Given the description of an element on the screen output the (x, y) to click on. 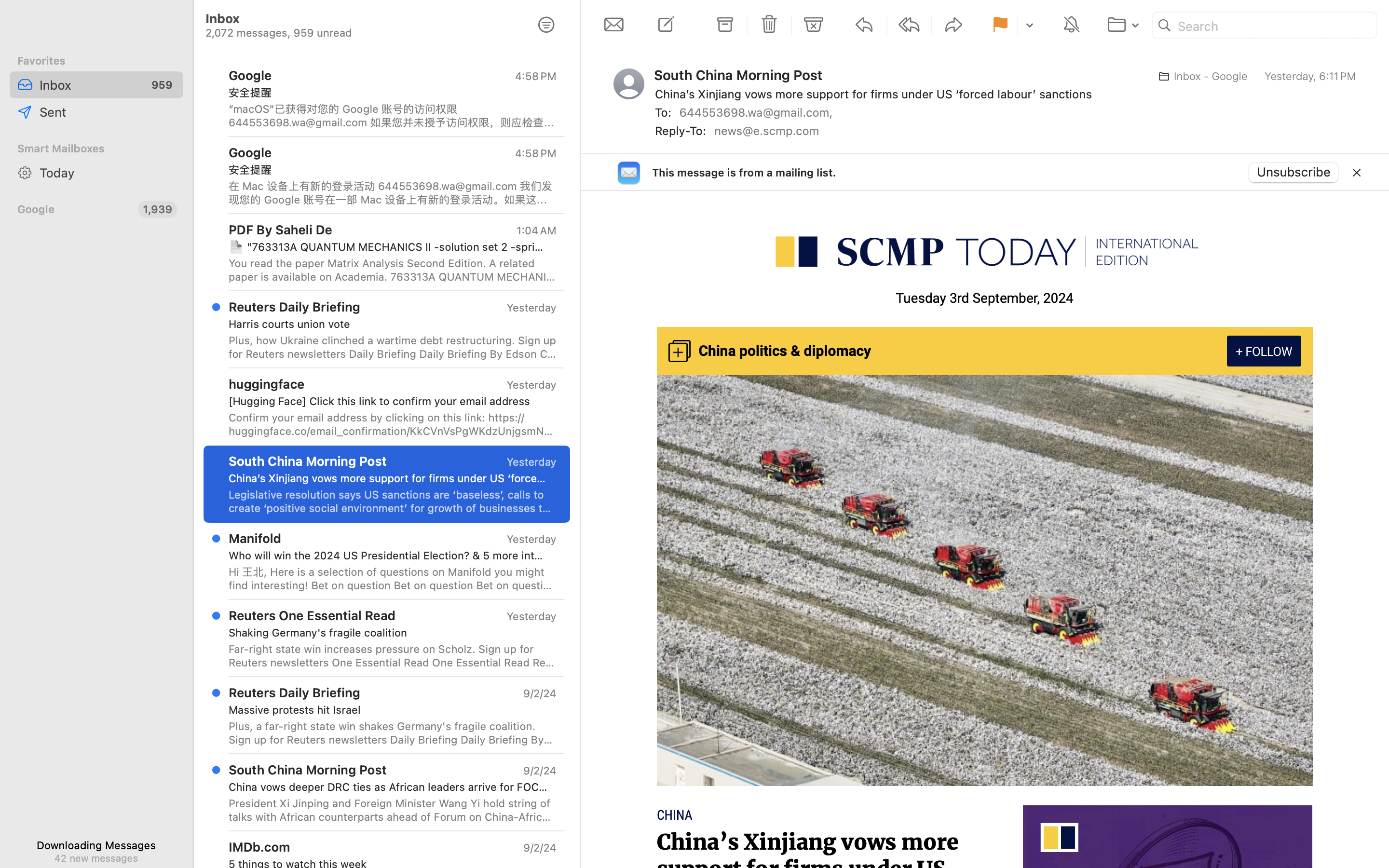
Sent Element type: AXStaticText (107, 111)
Massive protests hit Israel Element type: AXStaticText (388, 709)
“macOS”已获得对您的 Google 账号的访问权限 644553698.wa@gmail.com 如果您并未授予访问权限，则应检查此活动，并确保您的账号安全。 查看活动 您也可以访问以下网址查看安全性活动： https://myaccount.google.com/notifications 我们向您发送这封电子邮件，目的是让您了解关于您的 Google 账号和服务的重大变化。 © 2024 Google LLC, 1600 Amphitheatre Parkway, Mountain View, CA 94043, USA Element type: AXStaticText (392, 115)
Plus, a far-right state win shakes Germany's fragile coalition. Sign up for Reuters newsletters Daily Briefing Daily Briefing By Edson Caldas Frustration is mounting over Israel's failure to secure a ceasefire deal that would free hostages. Today, we cover massive protests across the country and a general strike. Elsewhere, a far-right state win shakes Germany's fragile coalition, and a Russian missile attack rocks Kyiv and other parts of Ukraine. Plus, the latest from the Paris Paralympics. Today's Top News Hundreds of thousands protested across Israel on Sunday. REUTERS/Florion Goga War in Gaza Municipal services in several Israeli districts were disrupted today after the country's biggest labor union launched a general strike to pressure Prime Minister Benjamin Netanyahu into agreeing to a deal to bring Israeli hostages in Gaza home. Over the weekend, massive protests swept the country following the death of six hostages in Gaza. Crowds estimated by Israeli media to number up to 500 Element type: AXStaticText (392, 732)
Reuters One Essential Read Element type: AXStaticText (311, 615)
